Given the description of an element on the screen output the (x, y) to click on. 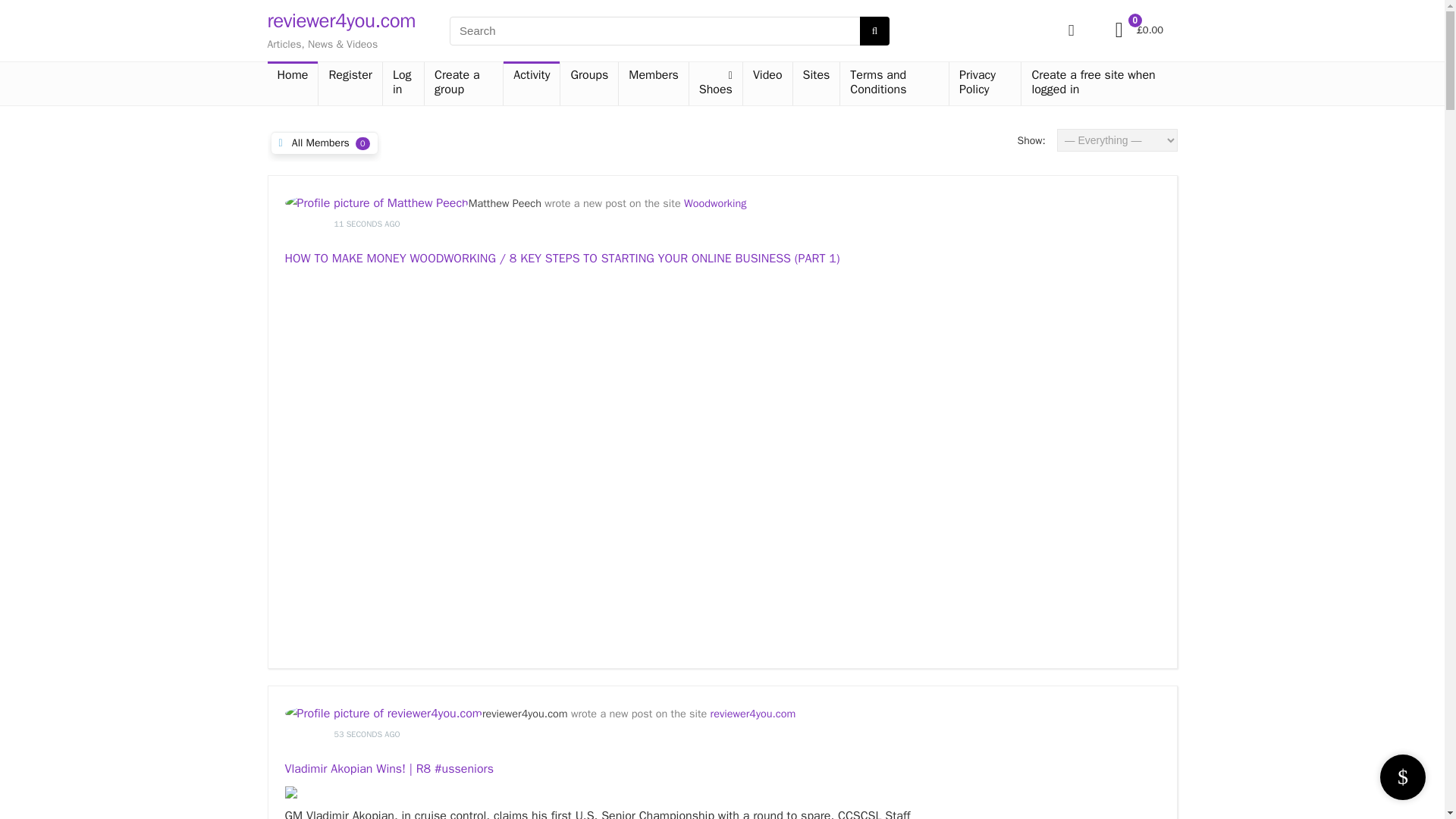
Create a free site when logged in (1099, 83)
Terms and Conditions (894, 83)
Video (767, 76)
Register (349, 76)
Matthew Peech (504, 202)
Members (653, 76)
reviewer4you.com (524, 713)
Home (291, 76)
Groups (588, 76)
Create a group (463, 83)
reviewer4you.com (753, 713)
Log in (402, 83)
Sites (816, 76)
11 SECONDS AGO (745, 232)
Woodworking (715, 202)
